Given the description of an element on the screen output the (x, y) to click on. 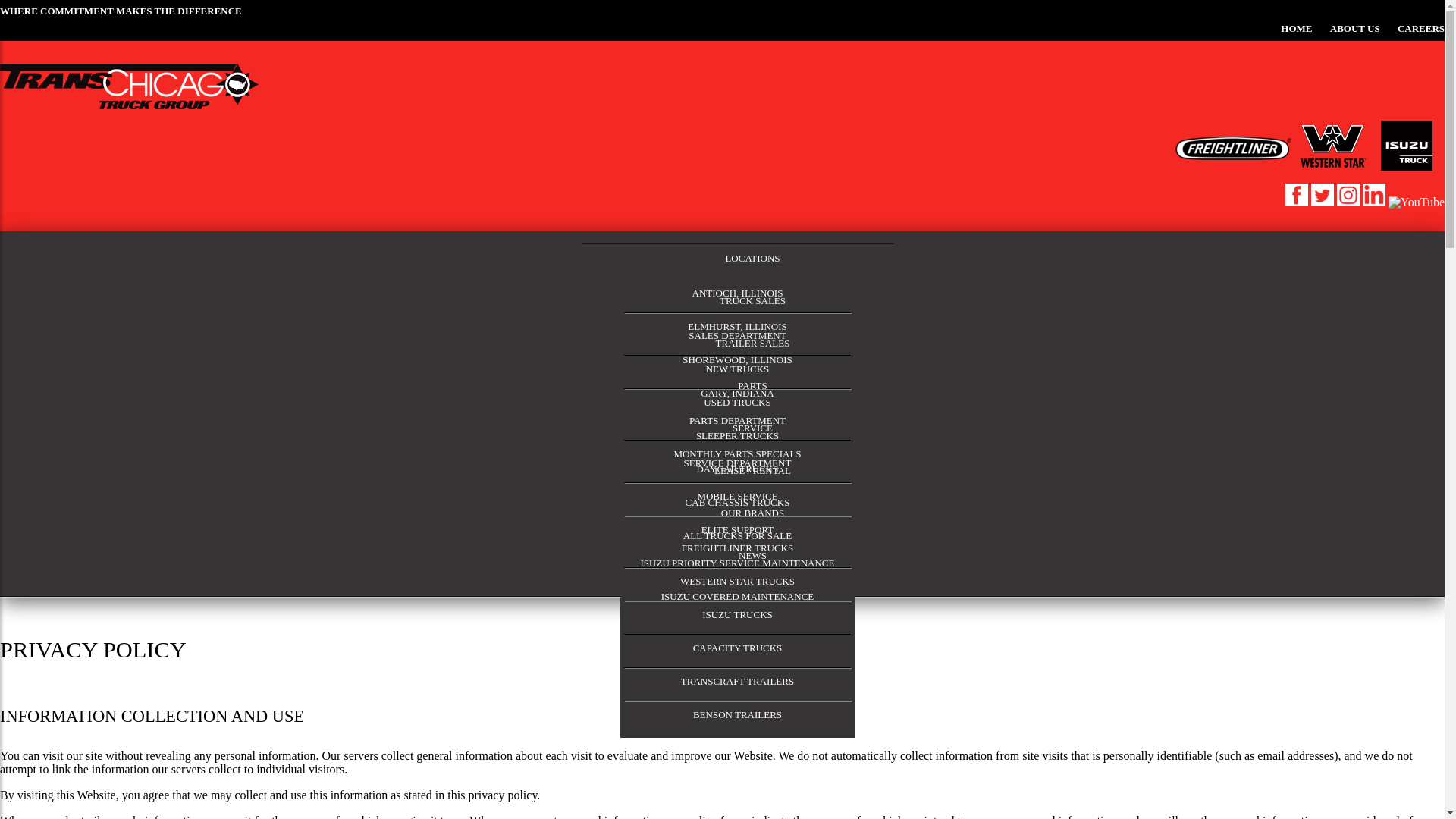
ABOUT US (1355, 28)
HOME (1296, 28)
